Given the description of an element on the screen output the (x, y) to click on. 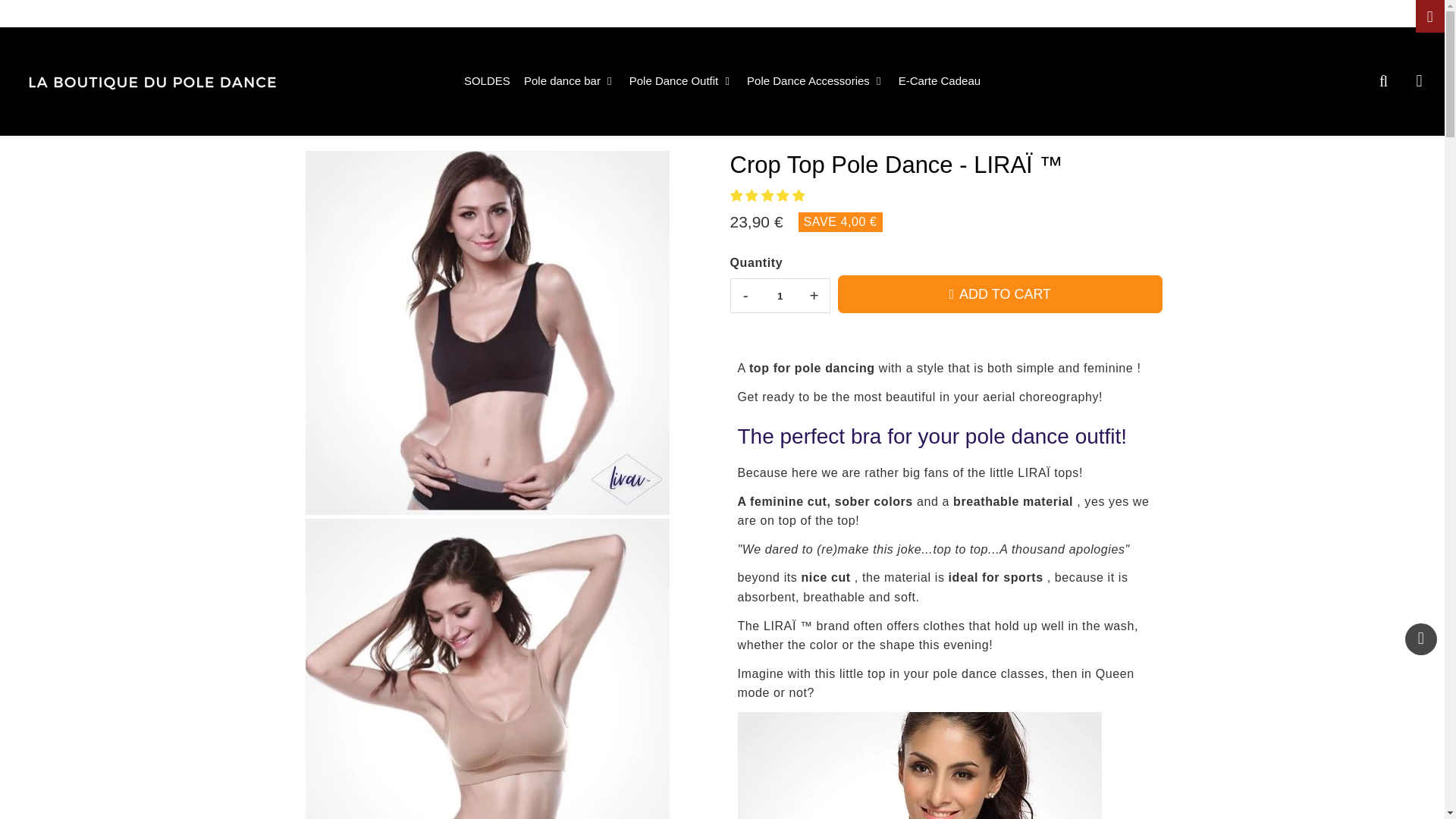
Pole Dance Accessories (815, 80)
ADD TO CART (999, 293)
Pole Dance Outfit (681, 80)
E-Carte Cadeau (939, 80)
1 (779, 296)
Pole dance bar (569, 80)
